Given the description of an element on the screen output the (x, y) to click on. 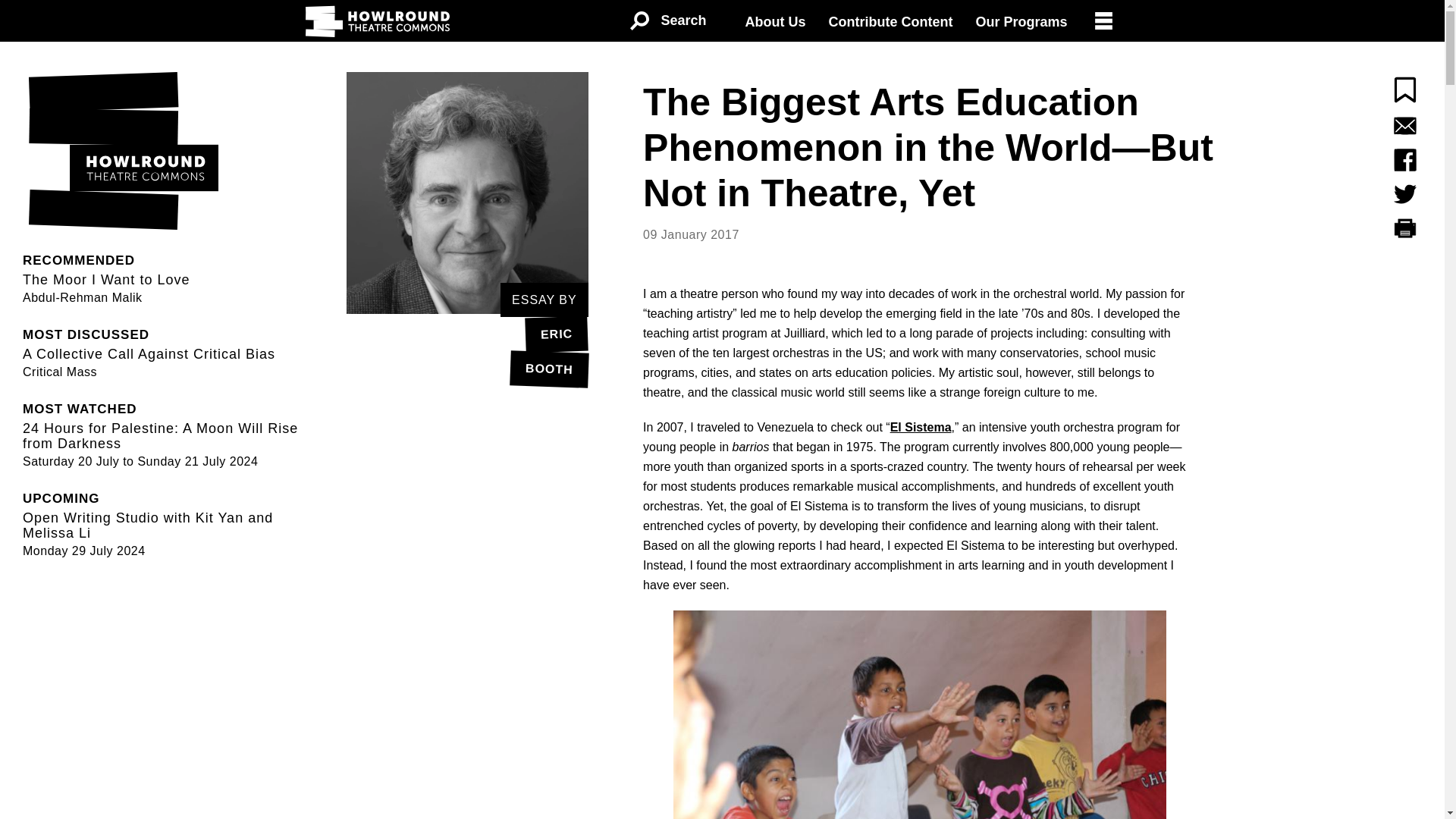
Search (667, 20)
Our Programs (1020, 21)
About Us (102, 277)
Skip to main content (774, 21)
El Sistema (467, 350)
